Given the description of an element on the screen output the (x, y) to click on. 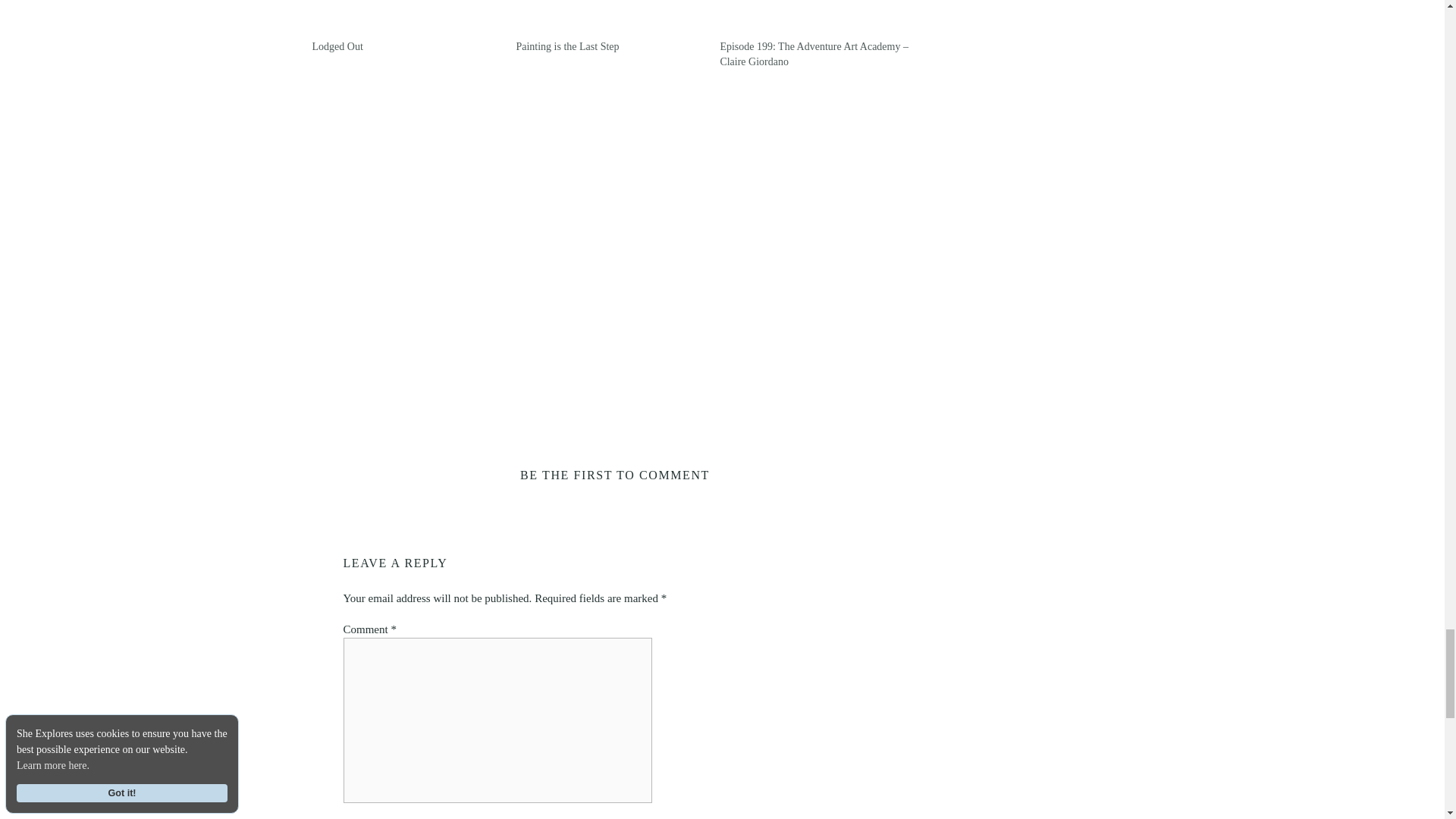
Painting is the Last Step (609, 19)
Painting is the Last Step (566, 46)
Lodged Out (337, 46)
Lodged Out (406, 19)
